Given the description of an element on the screen output the (x, y) to click on. 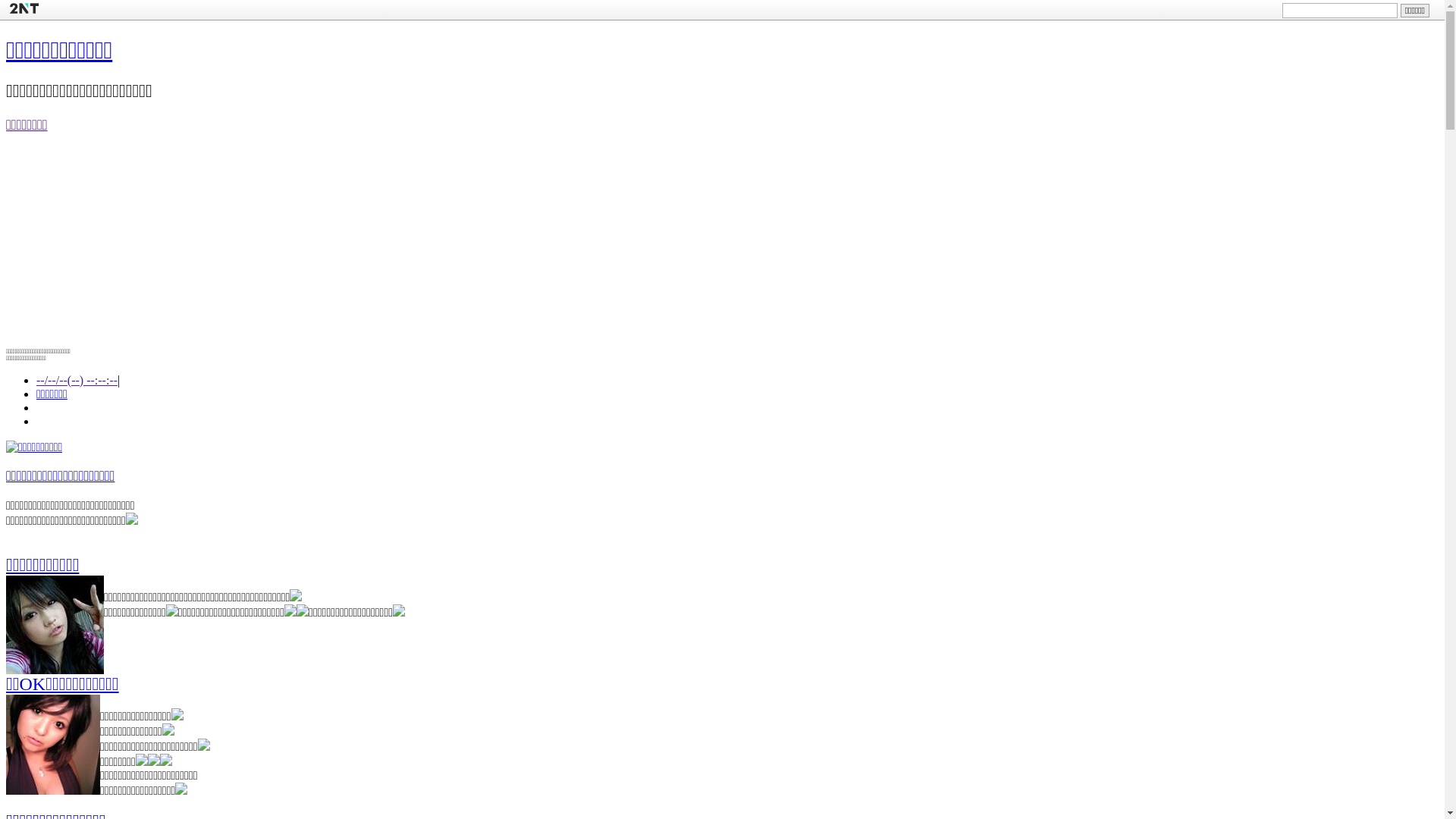
--/--/--(--) --:--:-- Element type: text (76, 379)
